Given the description of an element on the screen output the (x, y) to click on. 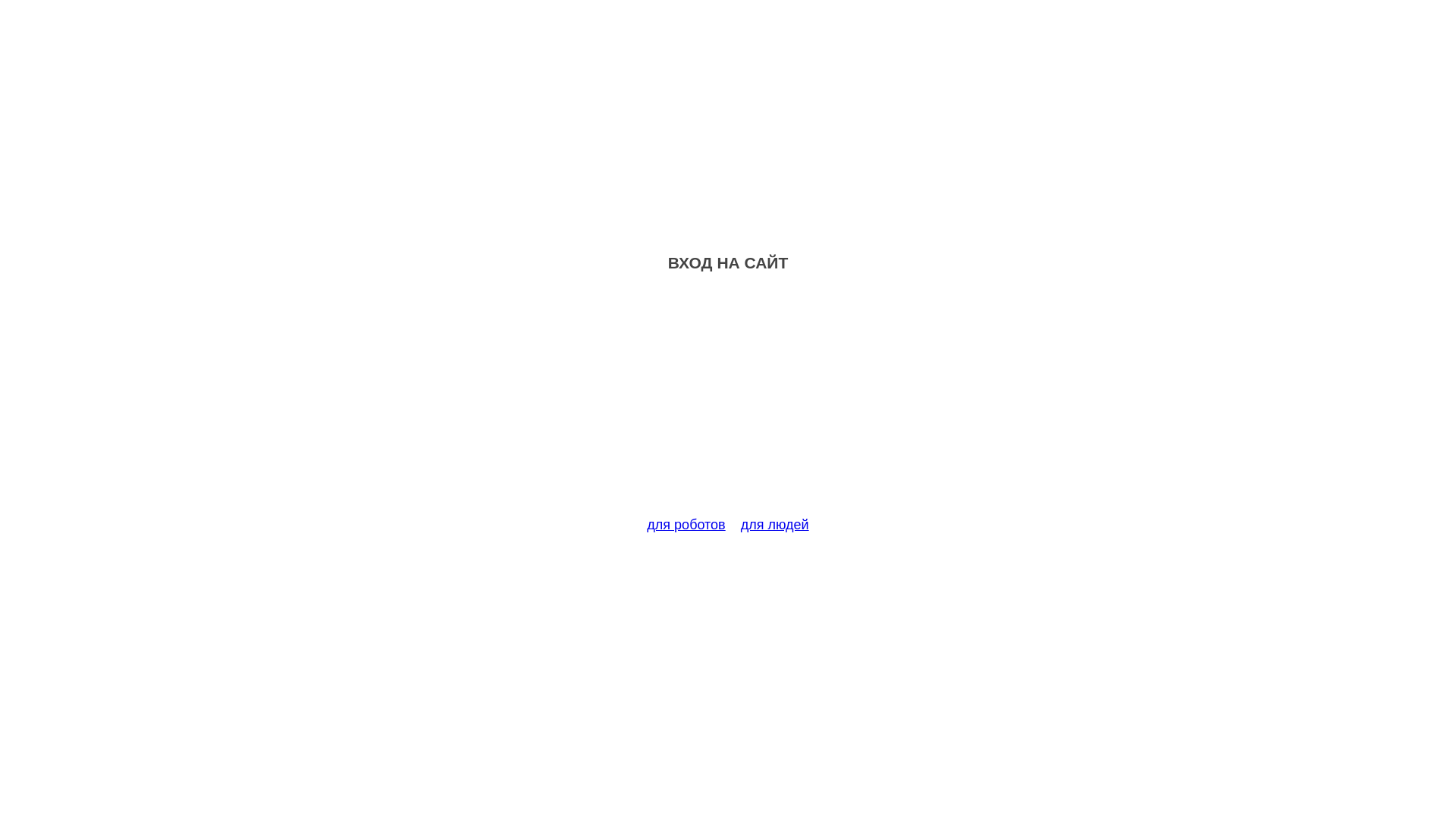
Advertisement Element type: hover (727, 403)
